Given the description of an element on the screen output the (x, y) to click on. 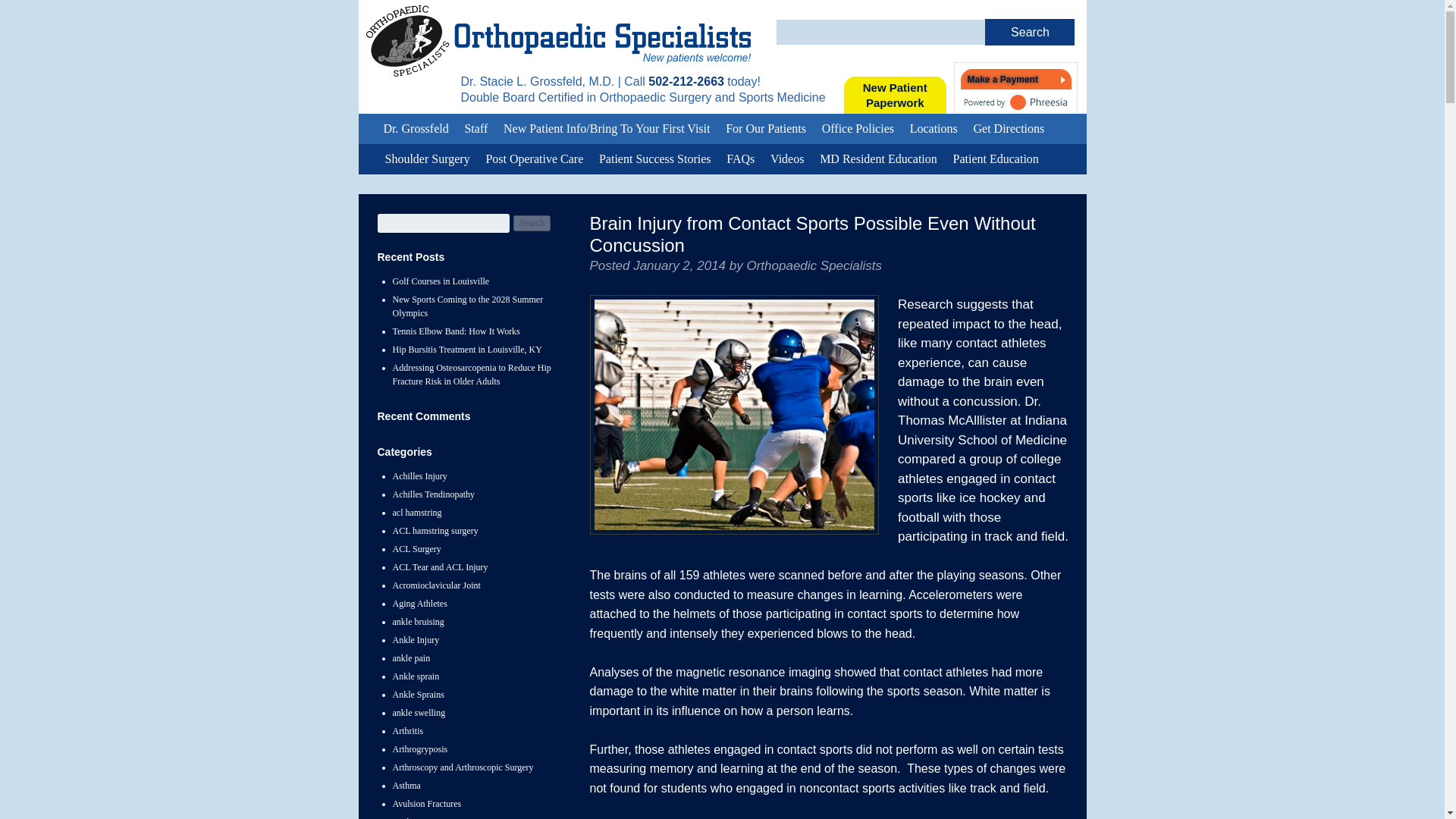
Staff (475, 128)
For Our Patients (765, 128)
Dr. Grossfeld (415, 128)
Patient Success Stories (654, 159)
Patient Education (996, 159)
Locations (933, 128)
Videos (895, 94)
Search (786, 159)
Post Operative Care (1029, 31)
Office Policies (534, 159)
brain injury and contact sports (857, 128)
Shoulder Surgery (734, 414)
502-212-2663 (427, 159)
Search (685, 81)
